Given the description of an element on the screen output the (x, y) to click on. 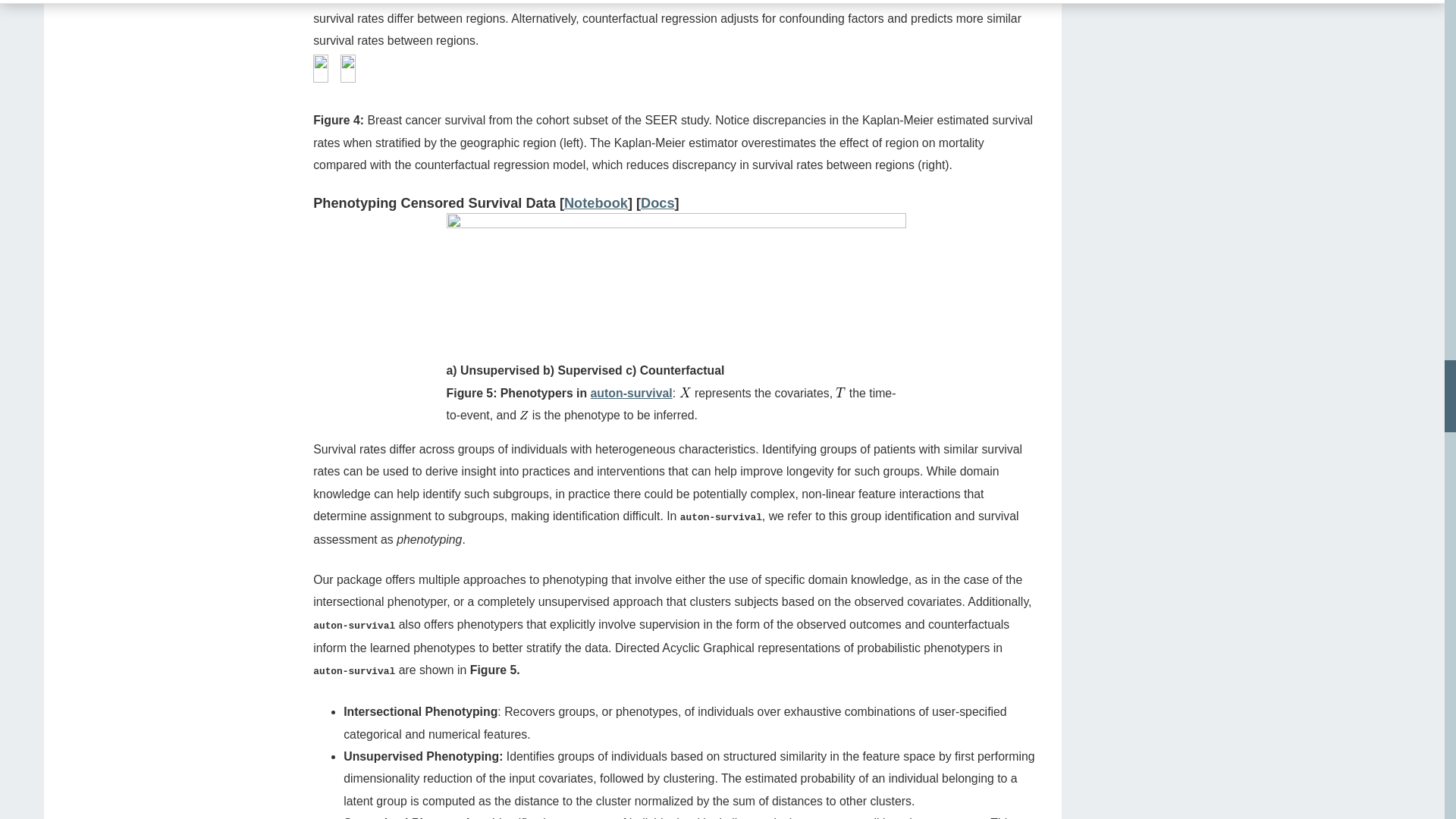
Notebook (595, 202)
Docs (657, 202)
auton-survival (631, 392)
